Given the description of an element on the screen output the (x, y) to click on. 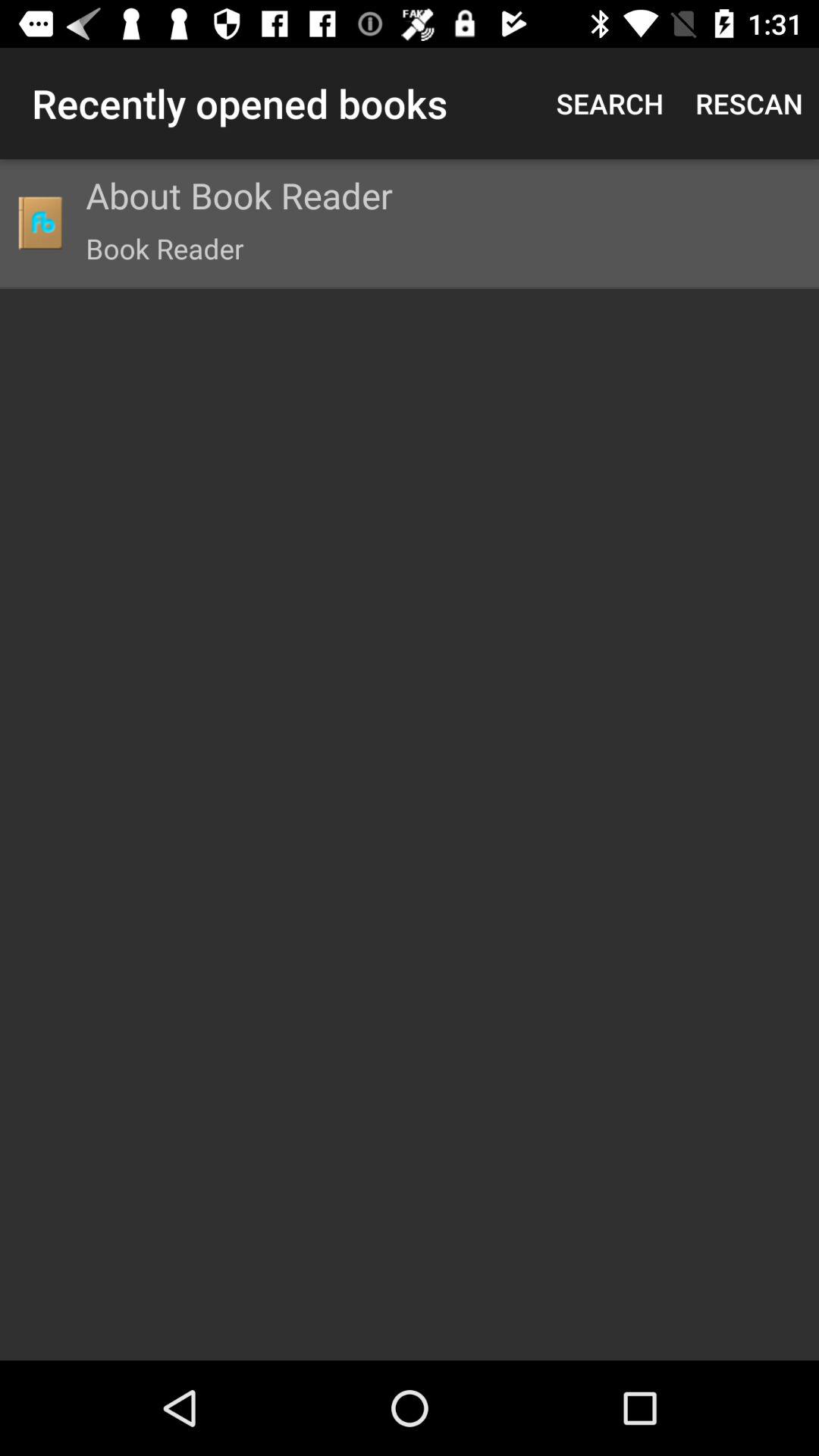
open the item to the left of the rescan icon (609, 103)
